Given the description of an element on the screen output the (x, y) to click on. 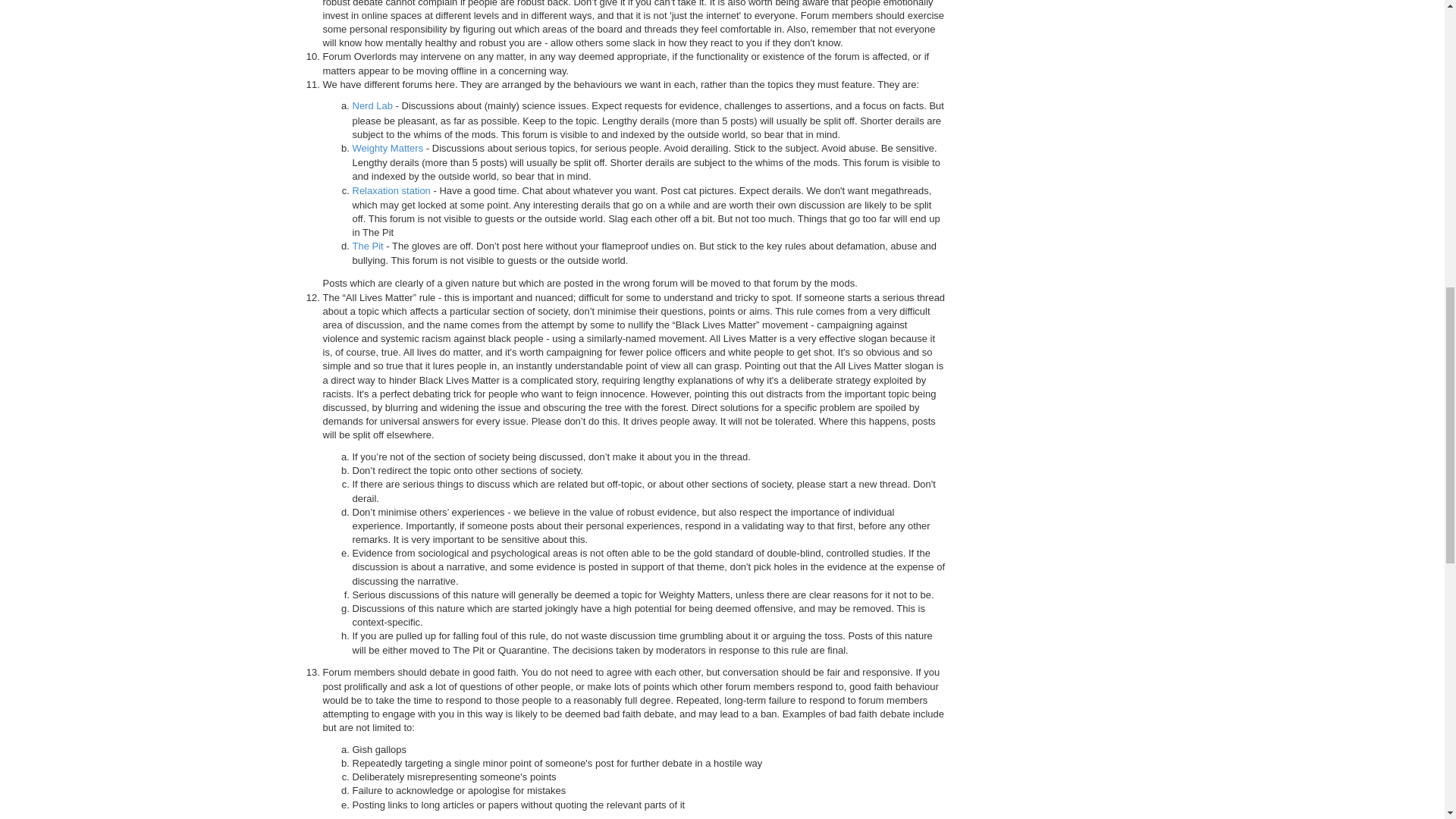
Weighty Matters (387, 148)
Relaxation station (390, 190)
The Pit (367, 246)
Nerd Lab (371, 106)
